Given the description of an element on the screen output the (x, y) to click on. 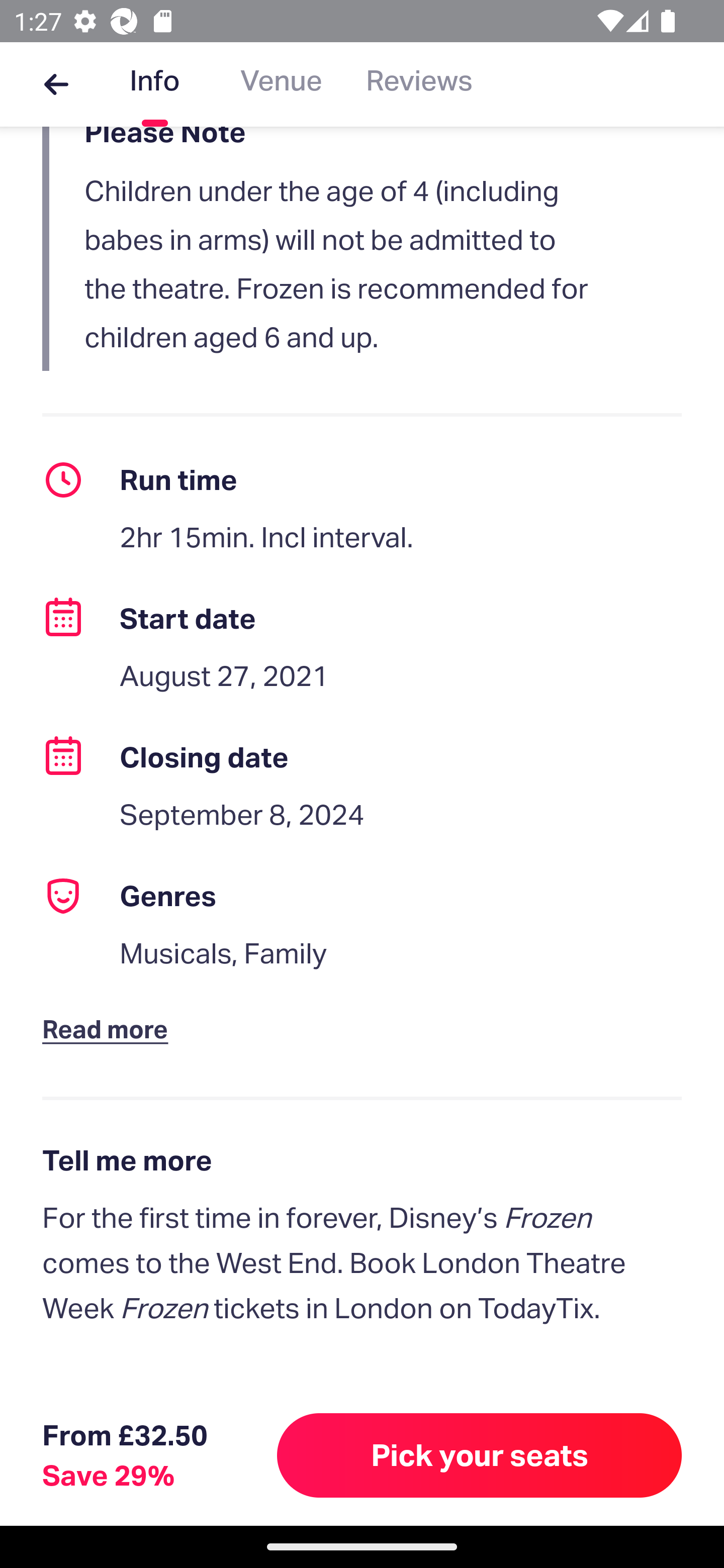
Venue (280, 84)
Reviews (419, 84)
Read more (109, 1012)
Tell me more (361, 1161)
Pick your seats (479, 1454)
